Given the description of an element on the screen output the (x, y) to click on. 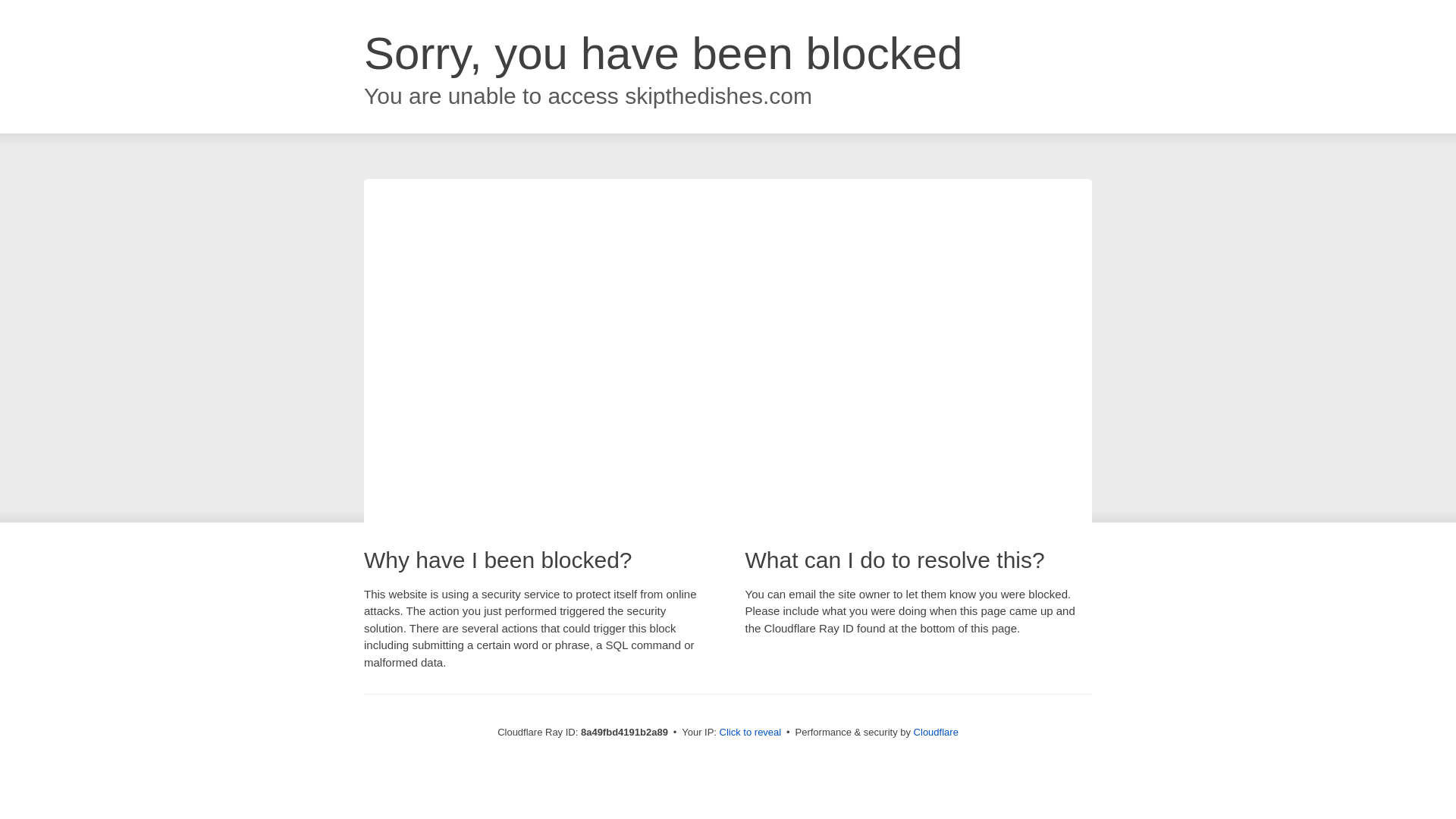
Click to reveal (750, 732)
Cloudflare (936, 731)
